Given the description of an element on the screen output the (x, y) to click on. 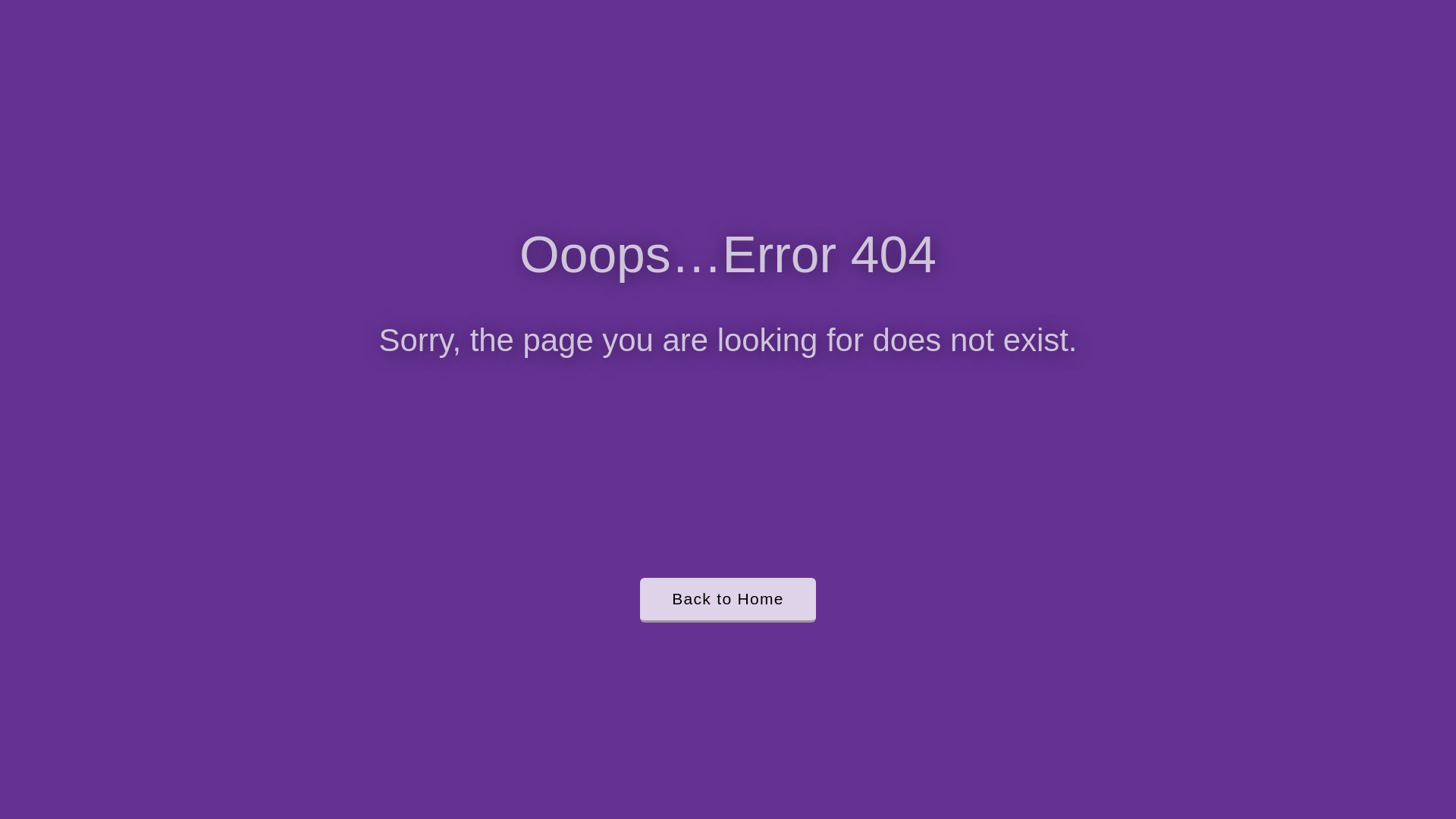
Back to Home Element type: text (727, 599)
